Given the description of an element on the screen output the (x, y) to click on. 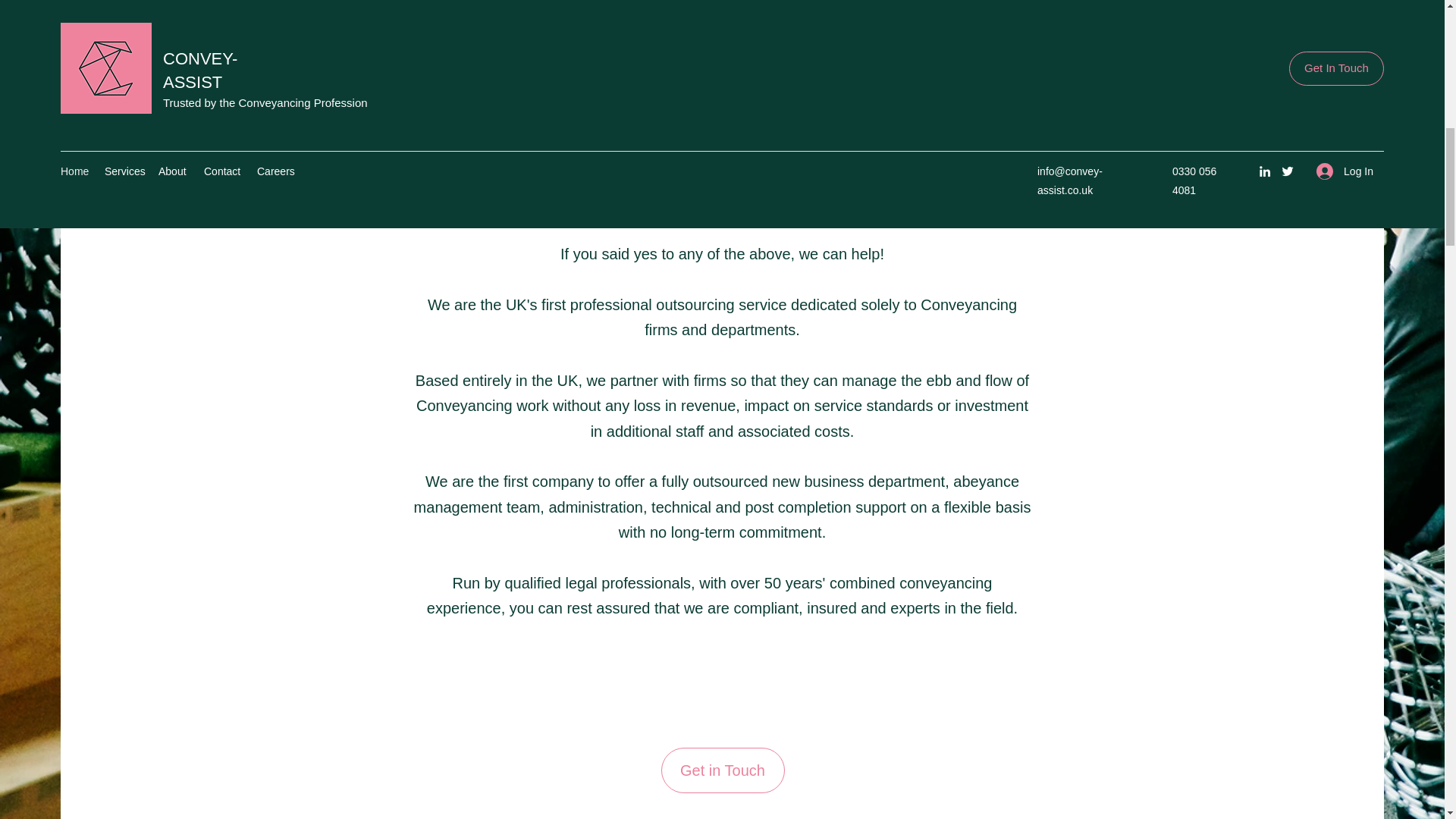
Get in Touch (722, 770)
